Given the description of an element on the screen output the (x, y) to click on. 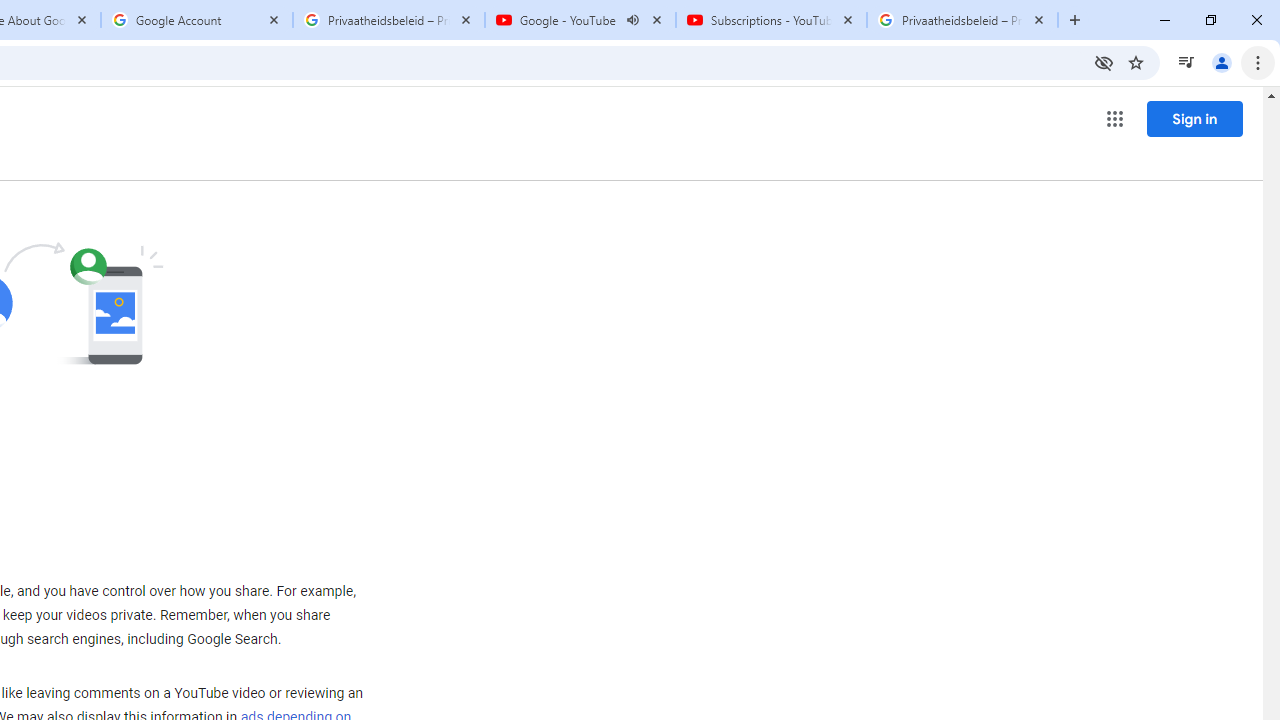
Google - YouTube - Audio playing (580, 20)
